Given the description of an element on the screen output the (x, y) to click on. 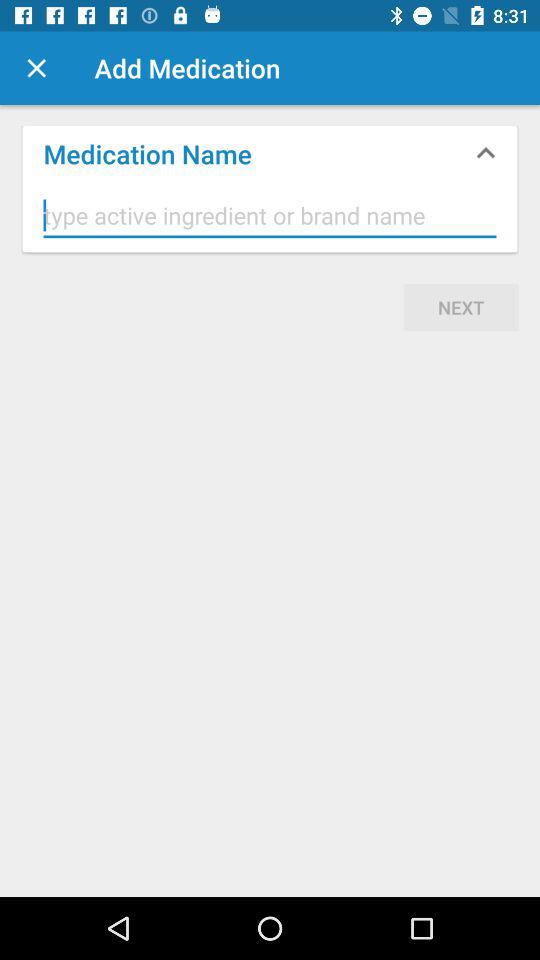
cancel (36, 68)
